Given the description of an element on the screen output the (x, y) to click on. 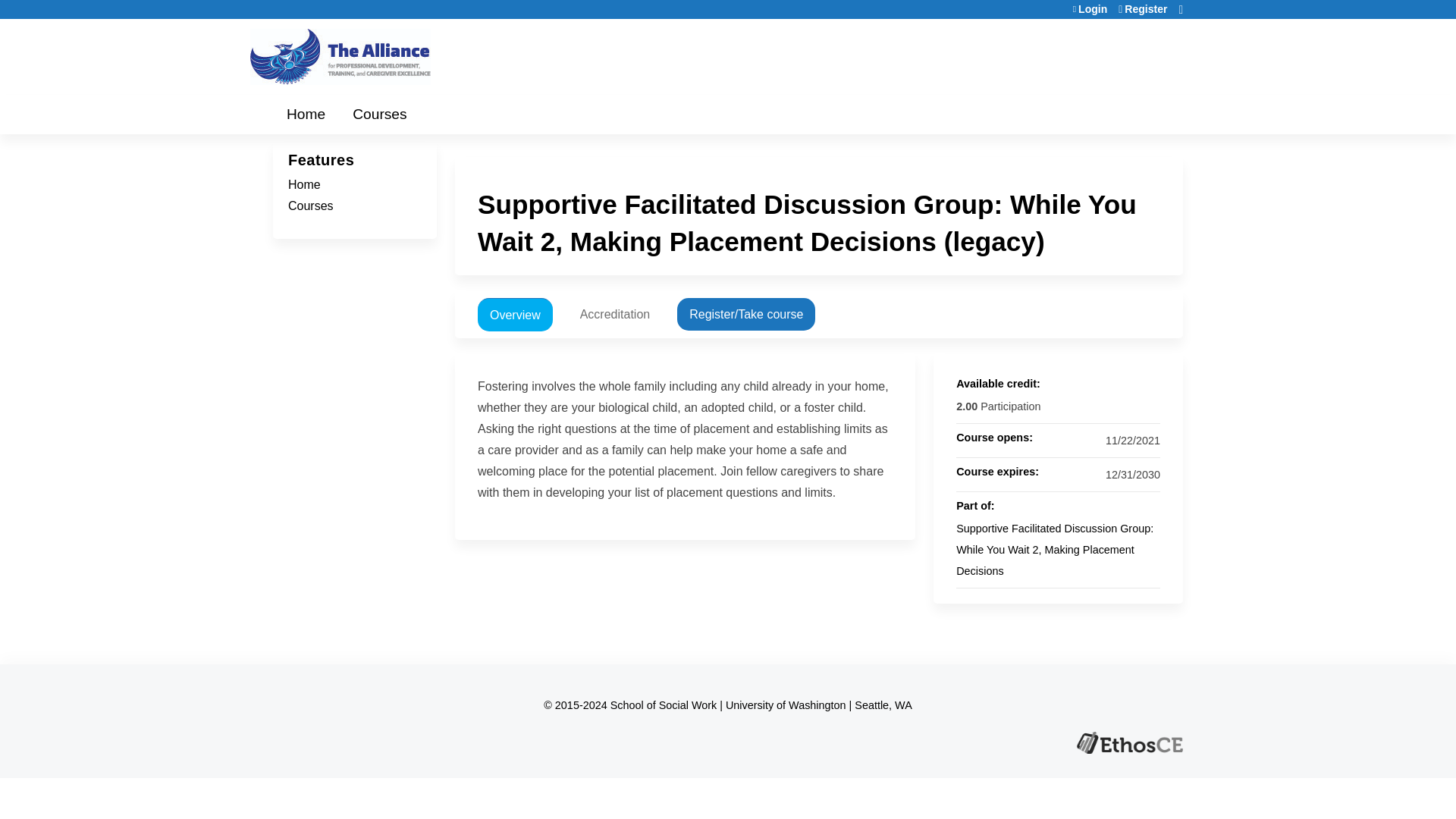
Home (304, 184)
Accreditation (614, 314)
Login (1089, 9)
Overview (515, 314)
Courses (379, 114)
Register (1142, 9)
Courses (310, 205)
Home (306, 114)
